Given the description of an element on the screen output the (x, y) to click on. 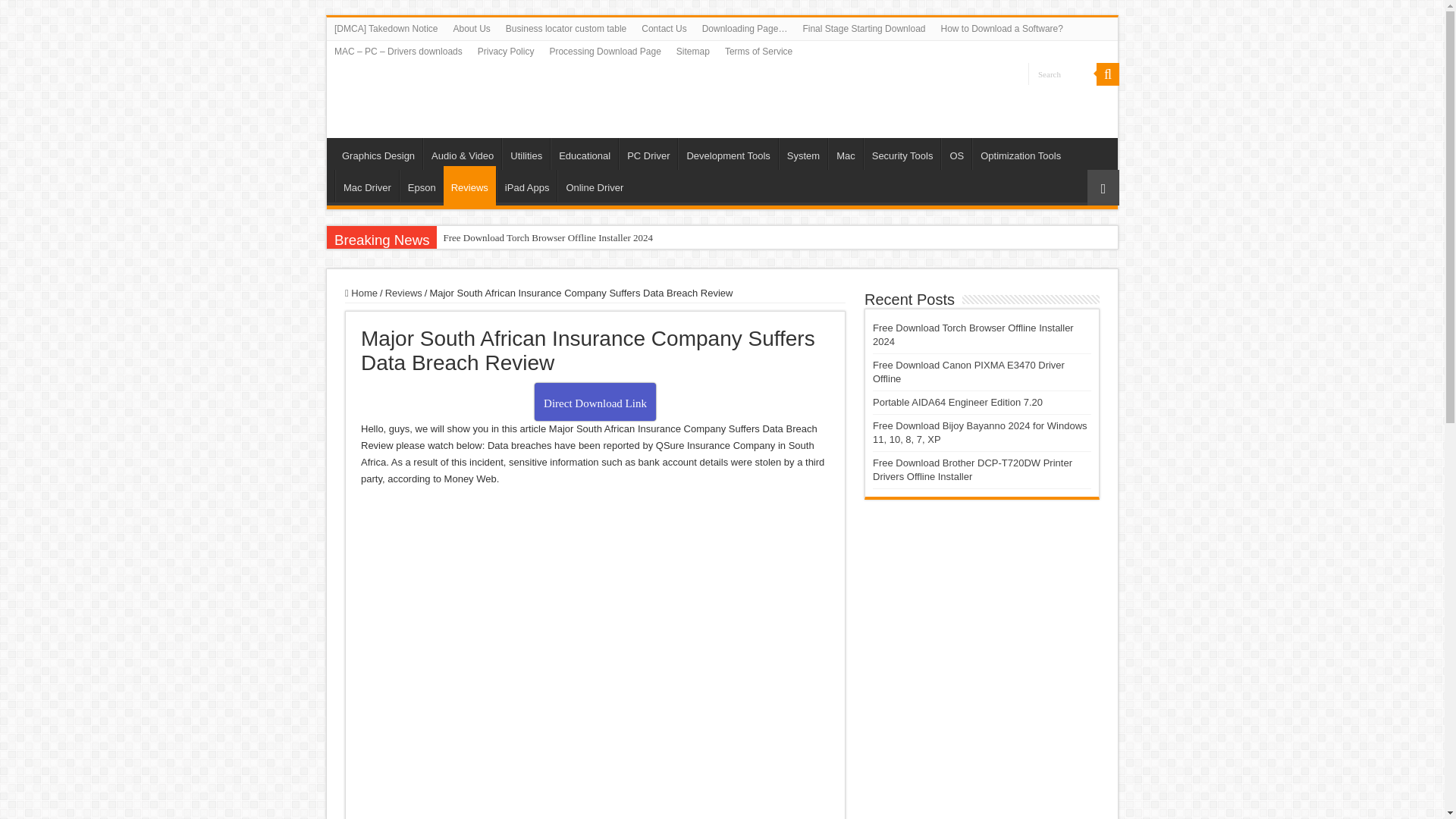
How to Download a Software? (1001, 28)
Contact Us (663, 28)
Search (1061, 74)
Optimization Tools (1020, 153)
Online Driver (593, 185)
Business locator custom table (565, 28)
About Us (471, 28)
Reviews (470, 185)
Security Tools (901, 153)
PC Driver (647, 153)
Mac Driver (366, 185)
Search (1107, 74)
Final Stage Starting Download (863, 28)
Search (1061, 74)
Sitemap (692, 51)
